Given the description of an element on the screen output the (x, y) to click on. 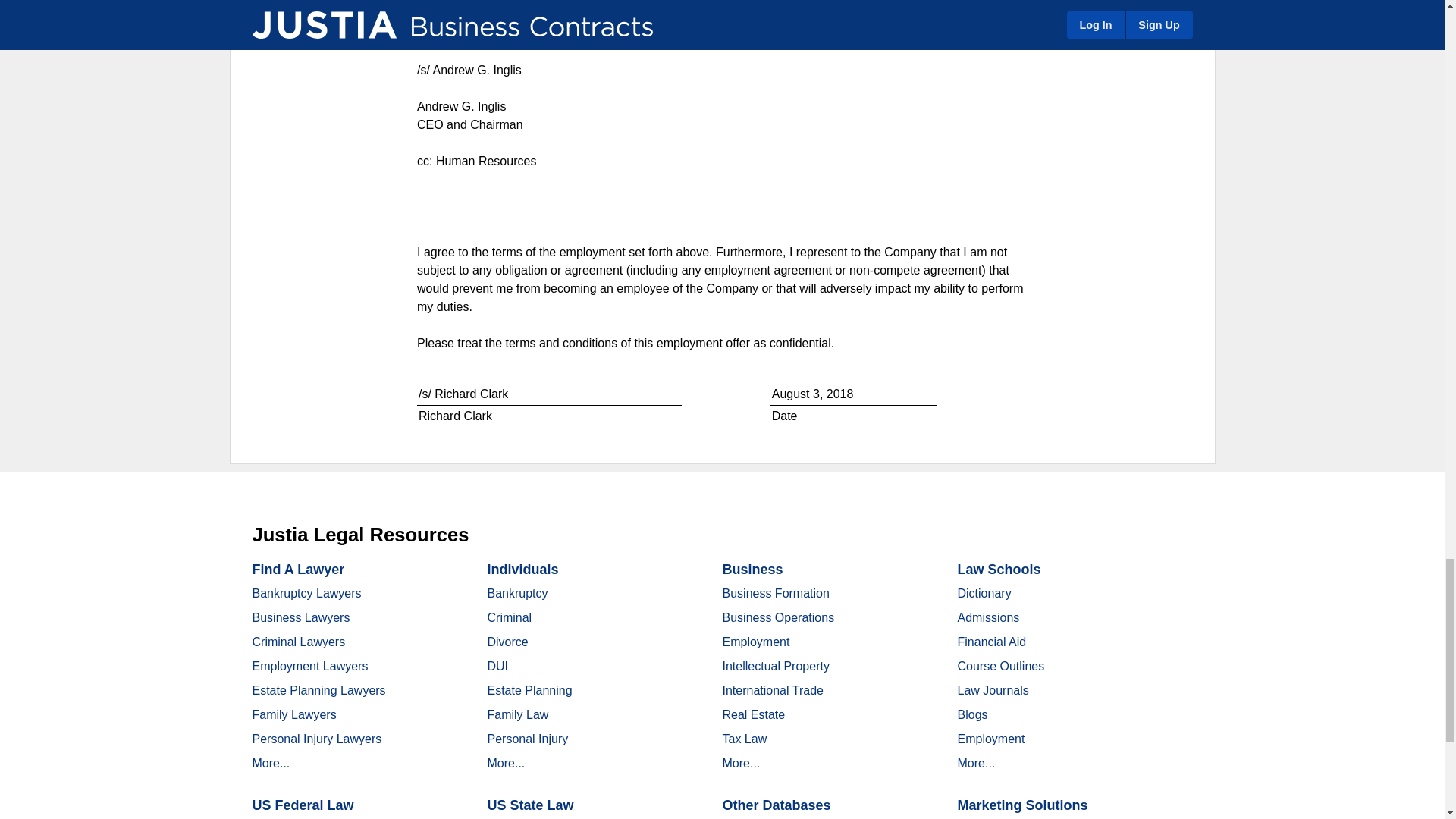
More... (270, 762)
Find A Lawyer (297, 569)
Bankruptcy (516, 593)
Family Lawyers (293, 714)
Personal Injury Lawyers (316, 738)
Criminal Lawyers (298, 641)
Estate Planning Lawyers (318, 689)
Bankruptcy Lawyers (306, 593)
Business Lawyers (300, 617)
Individuals (521, 569)
Employment Lawyers (309, 666)
